Given the description of an element on the screen output the (x, y) to click on. 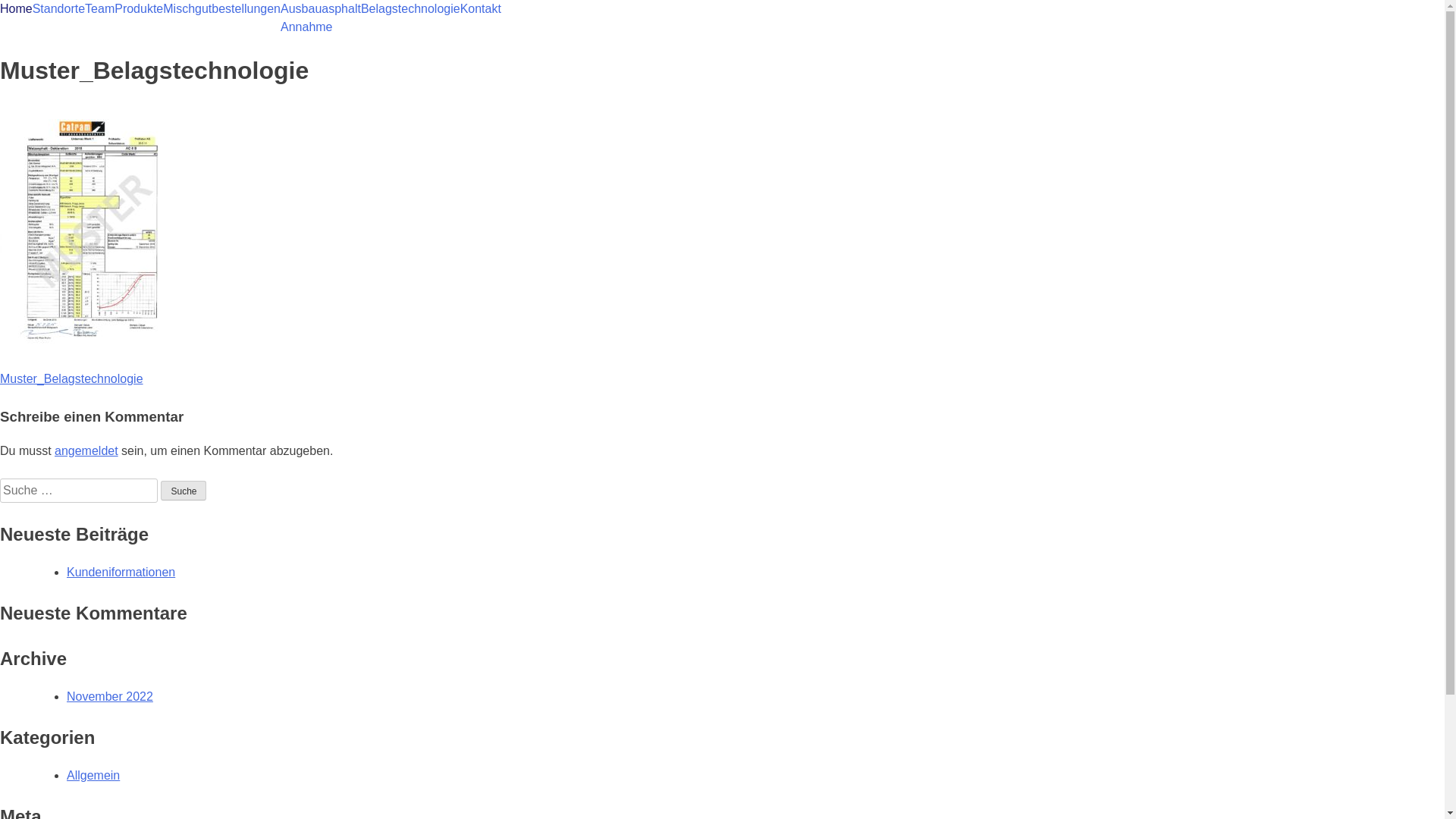
Belagstechnologie Element type: text (410, 9)
Team Element type: text (99, 9)
Muster_Belagstechnologie Element type: text (71, 378)
Willkommen bei der Catram AG Element type: text (84, 20)
Allgemein Element type: text (92, 774)
Suche Element type: text (183, 490)
angemeldet Element type: text (86, 450)
November 2022 Element type: text (109, 696)
Kontakt Element type: text (480, 9)
Mischgutbestellungen Element type: text (221, 9)
Ausbauasphalt
Annahme Element type: text (320, 18)
Standorte Element type: text (58, 9)
Produkte Element type: text (138, 9)
Home Element type: text (16, 9)
Kundeniformationen Element type: text (120, 571)
